Given the description of an element on the screen output the (x, y) to click on. 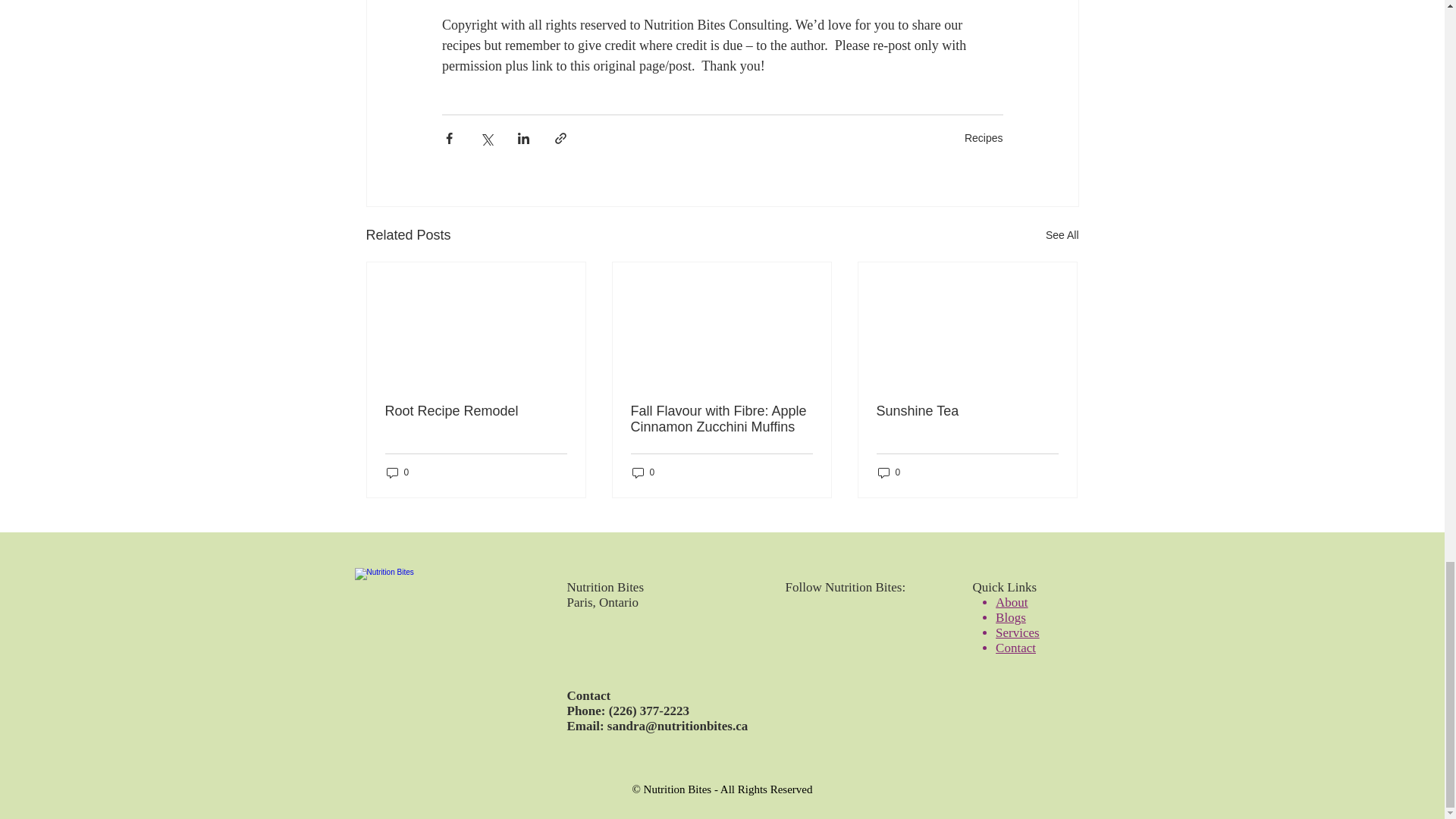
Root Recipe Remodel (476, 411)
Sunshine Tea (967, 411)
Recipes (983, 137)
See All (1061, 235)
0 (643, 472)
0 (889, 472)
Fall Flavour with Fibre: Apple Cinnamon Zucchini Muffins (721, 418)
0 (397, 472)
